Given the description of an element on the screen output the (x, y) to click on. 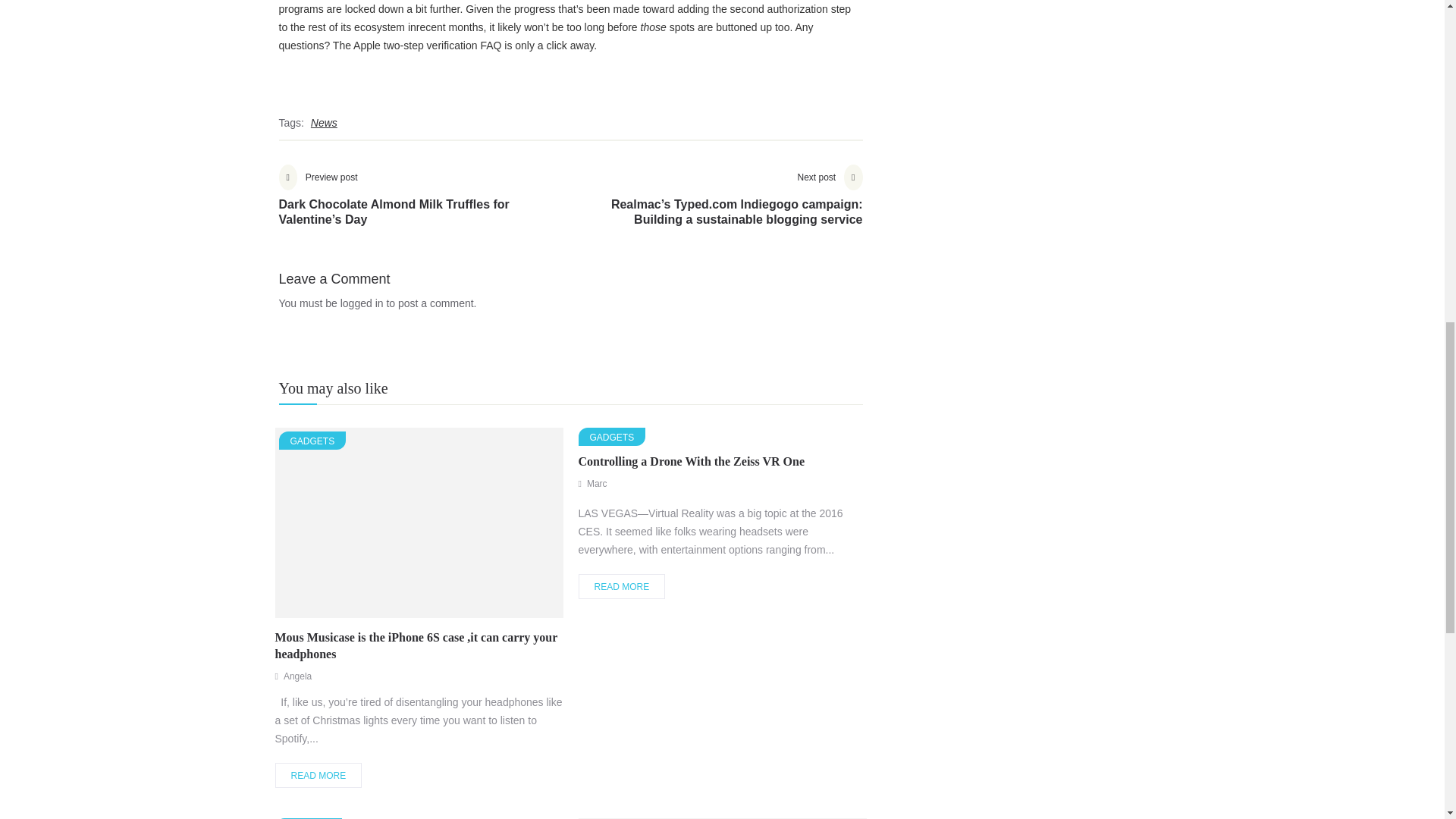
Marc (596, 483)
GADGETS (611, 436)
READ MORE (621, 586)
GADGETS (308, 818)
GADGETS (312, 440)
READ MORE (318, 774)
logged in (362, 303)
prev post (424, 206)
Angela (297, 675)
Controlling a Drone With the Zeiss VR One (691, 461)
next post (715, 206)
News (323, 122)
